Given the description of an element on the screen output the (x, y) to click on. 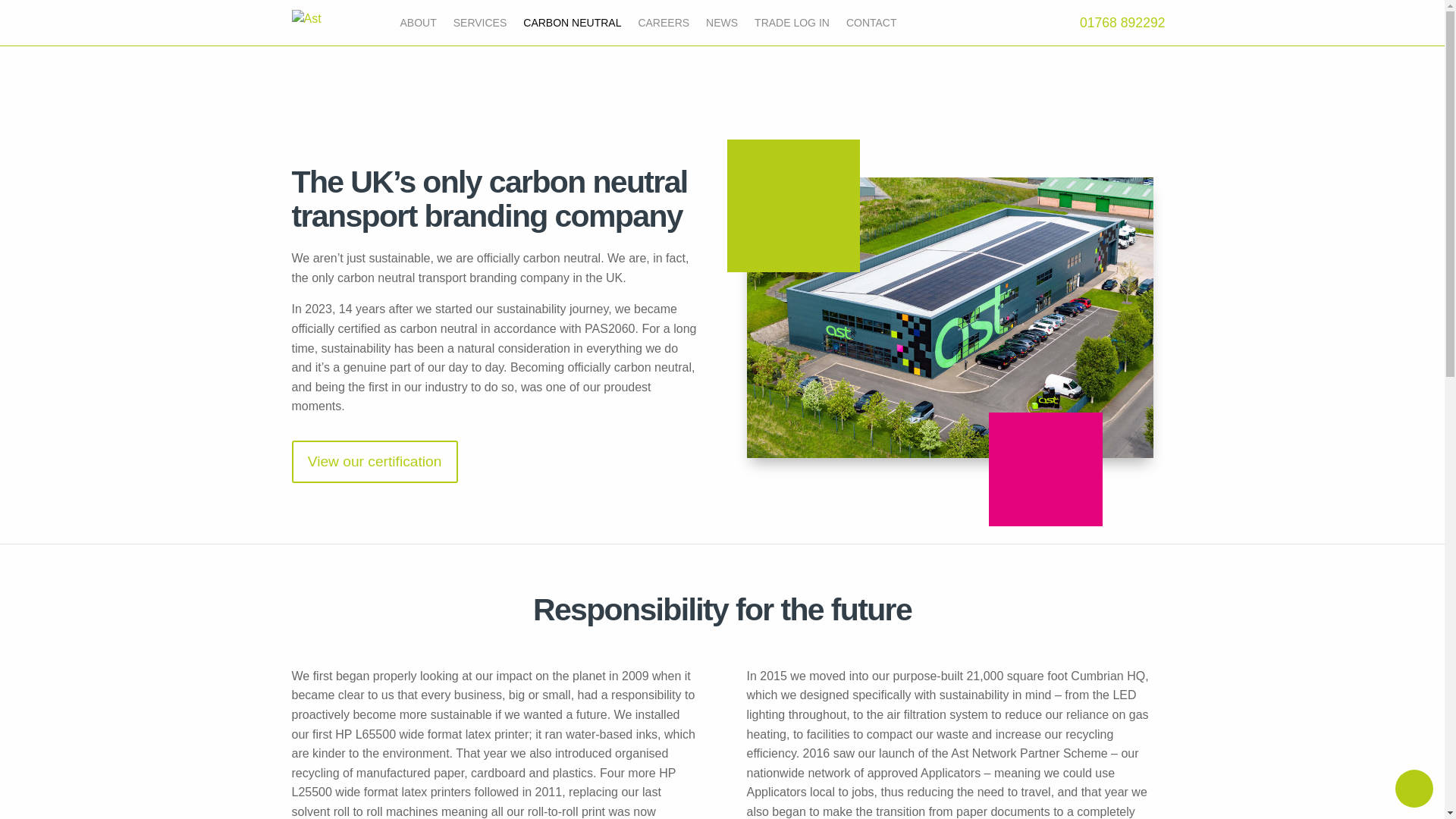
TRADE LOG IN (791, 25)
CAREERS (662, 25)
01768 892292 (1123, 22)
SERVICES (479, 25)
CARBON NEUTRAL (571, 25)
View our certification (374, 461)
NEWS (722, 25)
CONTACT (870, 25)
ABOUT (418, 25)
